Given the description of an element on the screen output the (x, y) to click on. 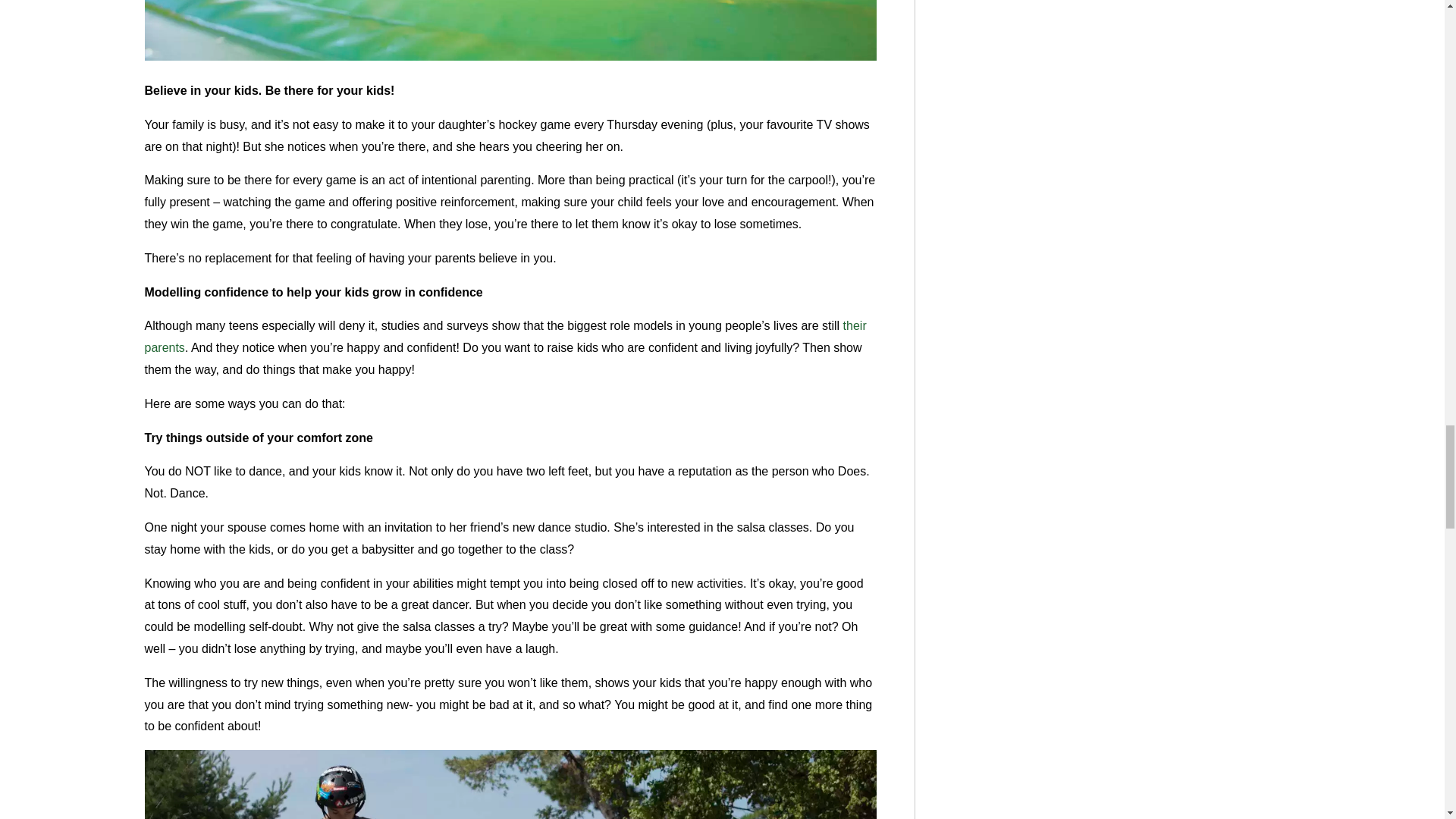
their parents (505, 336)
